Given the description of an element on the screen output the (x, y) to click on. 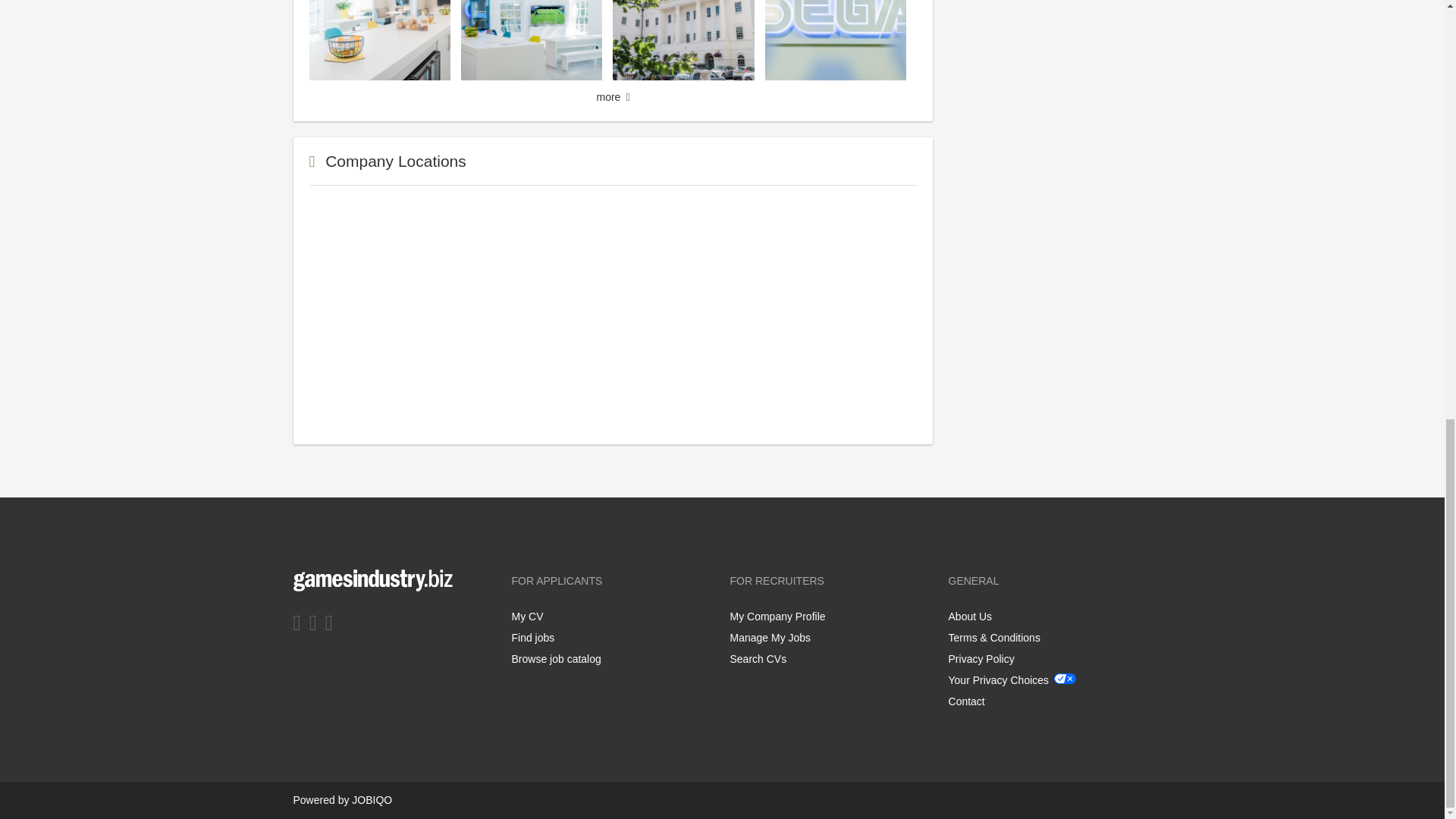
Find jobs (532, 637)
My CV (527, 616)
